Given the description of an element on the screen output the (x, y) to click on. 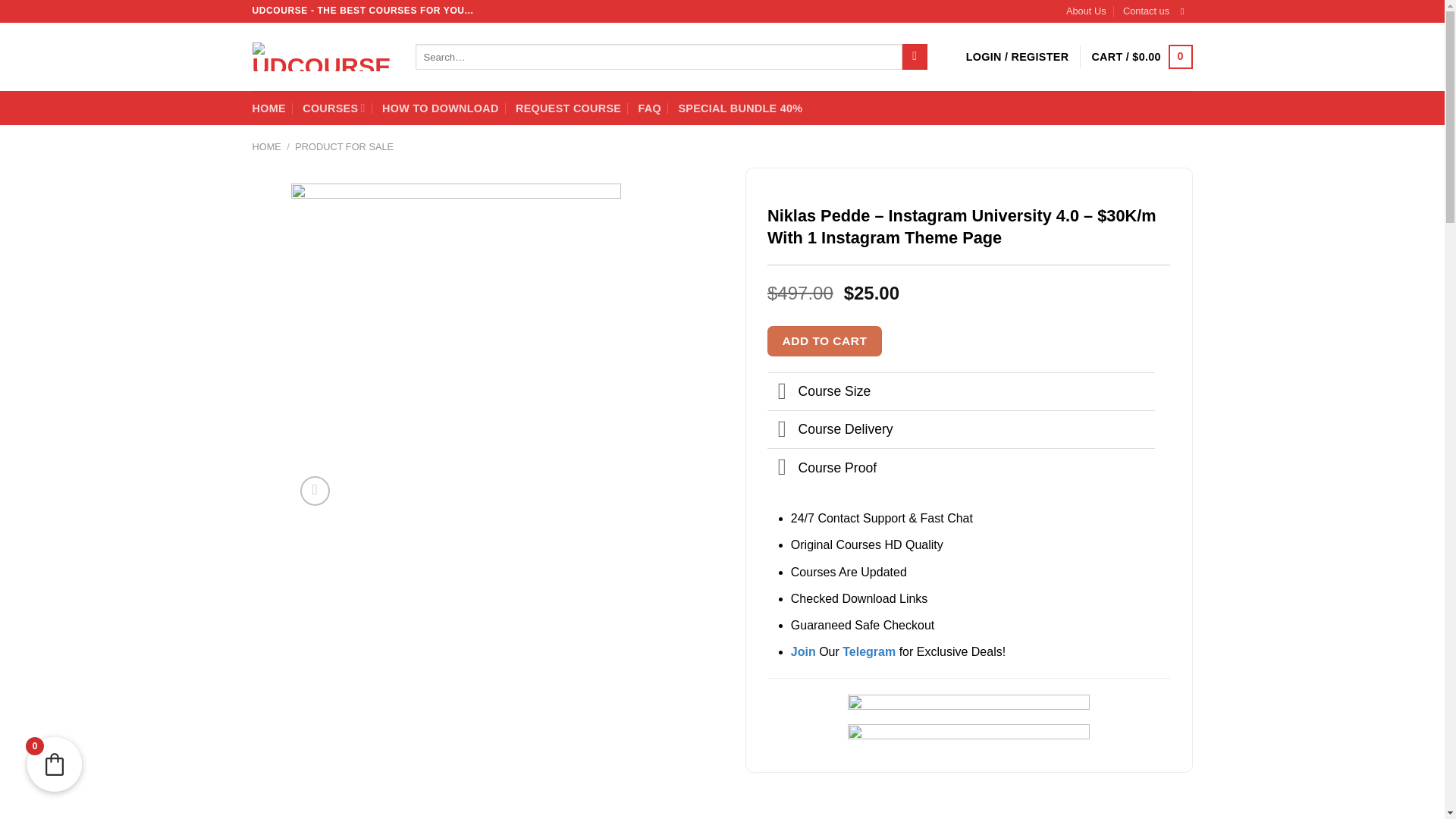
HOME (266, 146)
Contact us (1145, 11)
About Us (1085, 11)
Search (914, 56)
FAQ (650, 107)
HOME (268, 107)
Send us an email (1184, 10)
Udcourse - Best Cheap Online Course (321, 56)
COURSES (333, 107)
PRODUCT FOR SALE (344, 146)
Cart (1141, 56)
HOW TO DOWNLOAD (440, 107)
Zoom (314, 490)
REQUEST COURSE (568, 107)
Login (1017, 56)
